Given the description of an element on the screen output the (x, y) to click on. 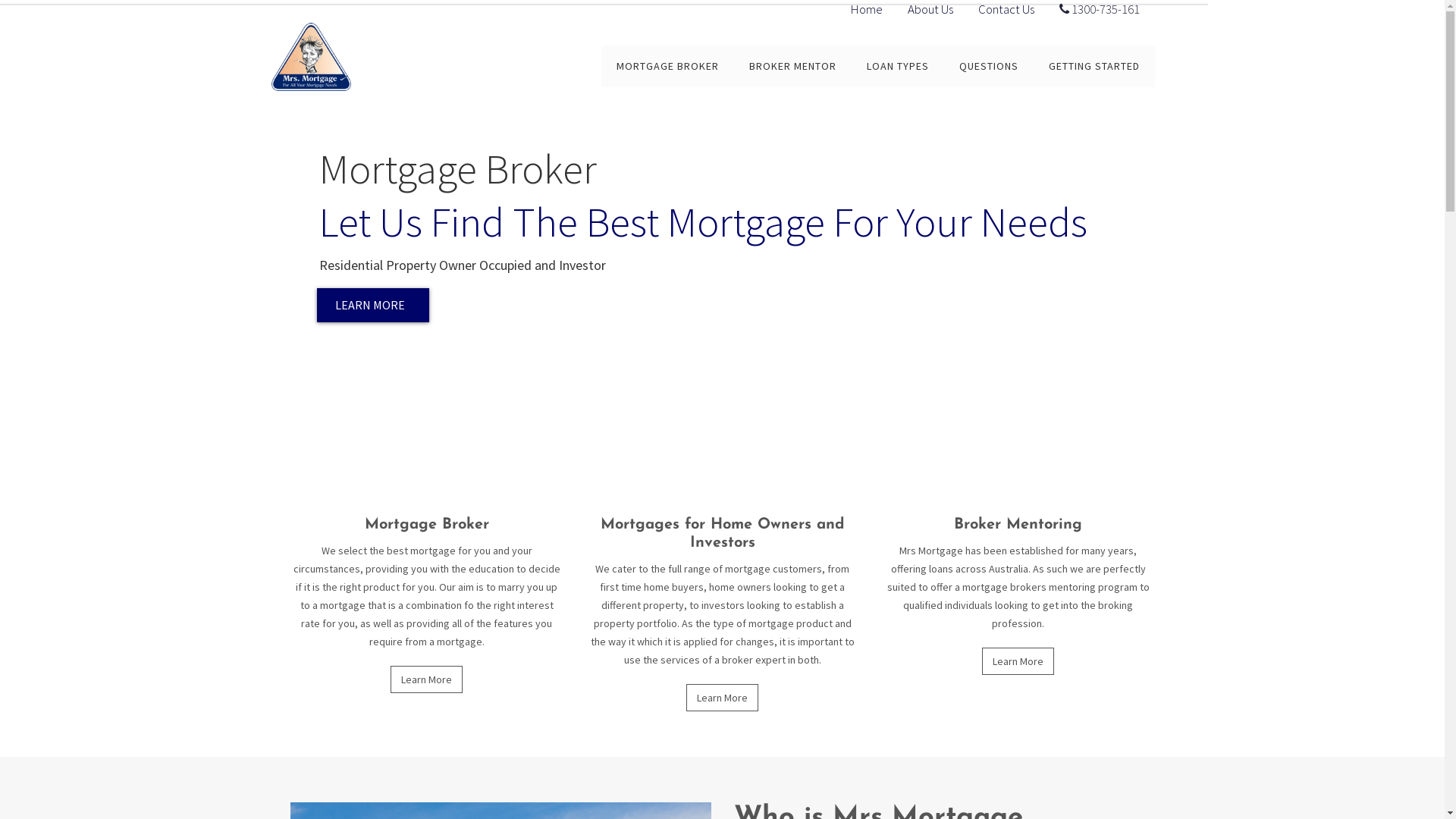
Learn More Element type: text (722, 697)
Contact Us Element type: text (1006, 8)
LOAN TYPES Element type: text (896, 64)
LEARN MORE Element type: text (372, 305)
Learn More Element type: text (1018, 660)
Learn More Element type: text (426, 679)
QUESTIONS Element type: text (987, 64)
GETTING STARTED Element type: text (1093, 64)
MORTGAGE BROKER Element type: text (666, 64)
BROKER MENTOR Element type: text (792, 64)
Home Element type: text (866, 8)
About Us Element type: text (929, 8)
